Given the description of an element on the screen output the (x, y) to click on. 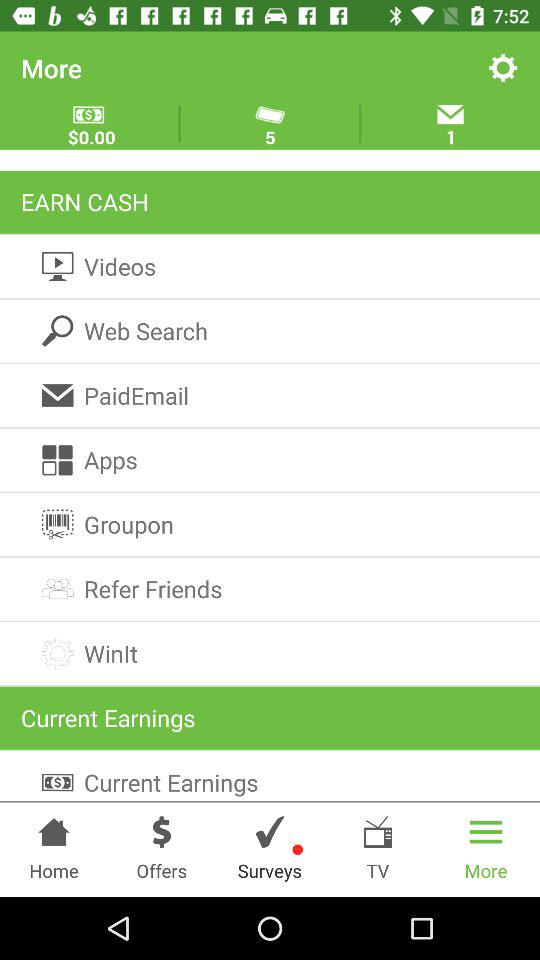
jump until videos (270, 266)
